Given the description of an element on the screen output the (x, y) to click on. 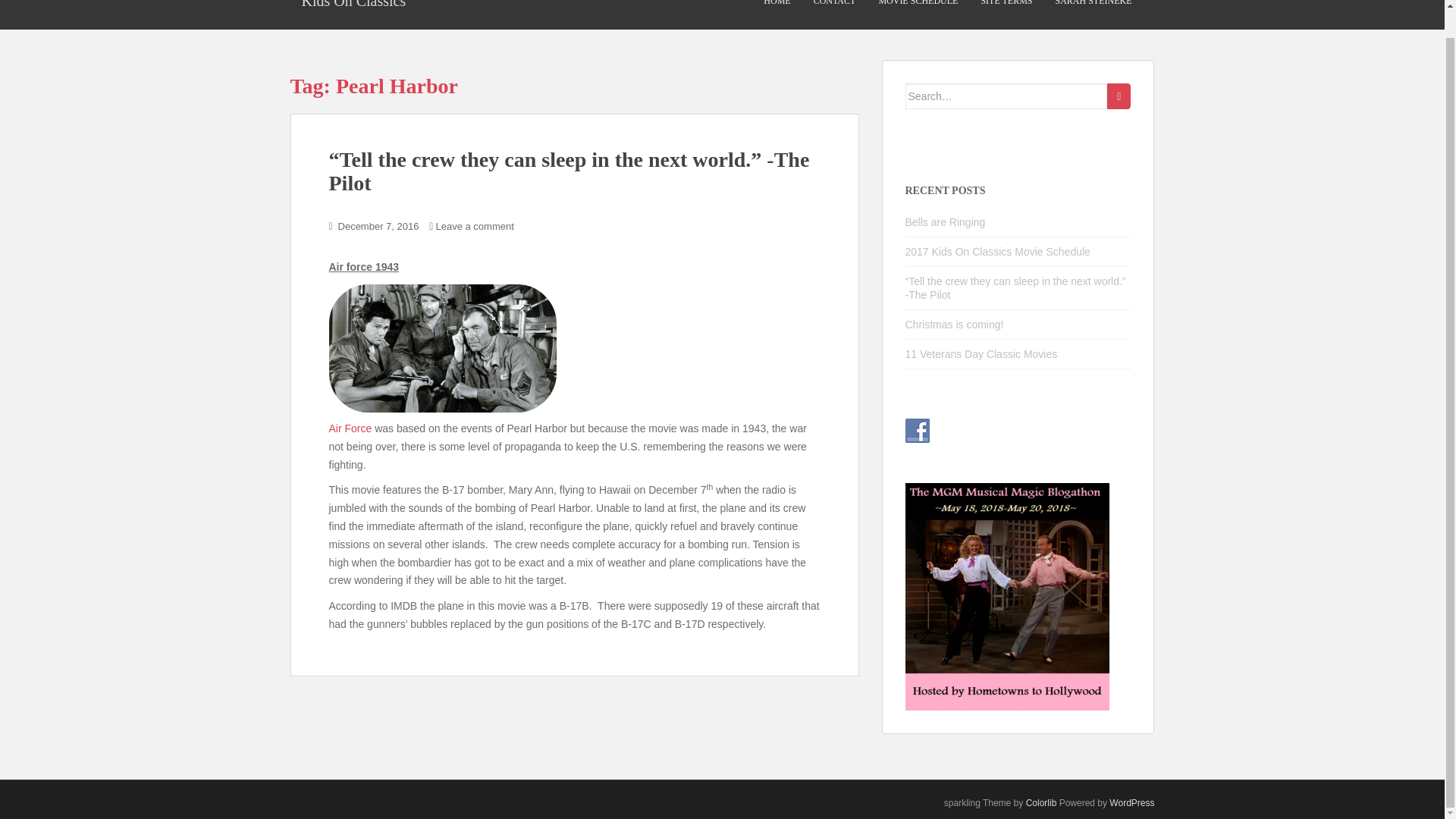
Follow Us on Facebook (917, 430)
Air Force (350, 428)
SARAH STEINEKE (1092, 14)
SITE TERMS (1006, 14)
Colorlib (1041, 802)
2017 Kids On Classics Movie Schedule (997, 251)
11 Veterans Day Classic Movies (981, 354)
Christmas is coming! (954, 324)
Movie Schedule (917, 14)
Site Terms (1006, 14)
